Given the description of an element on the screen output the (x, y) to click on. 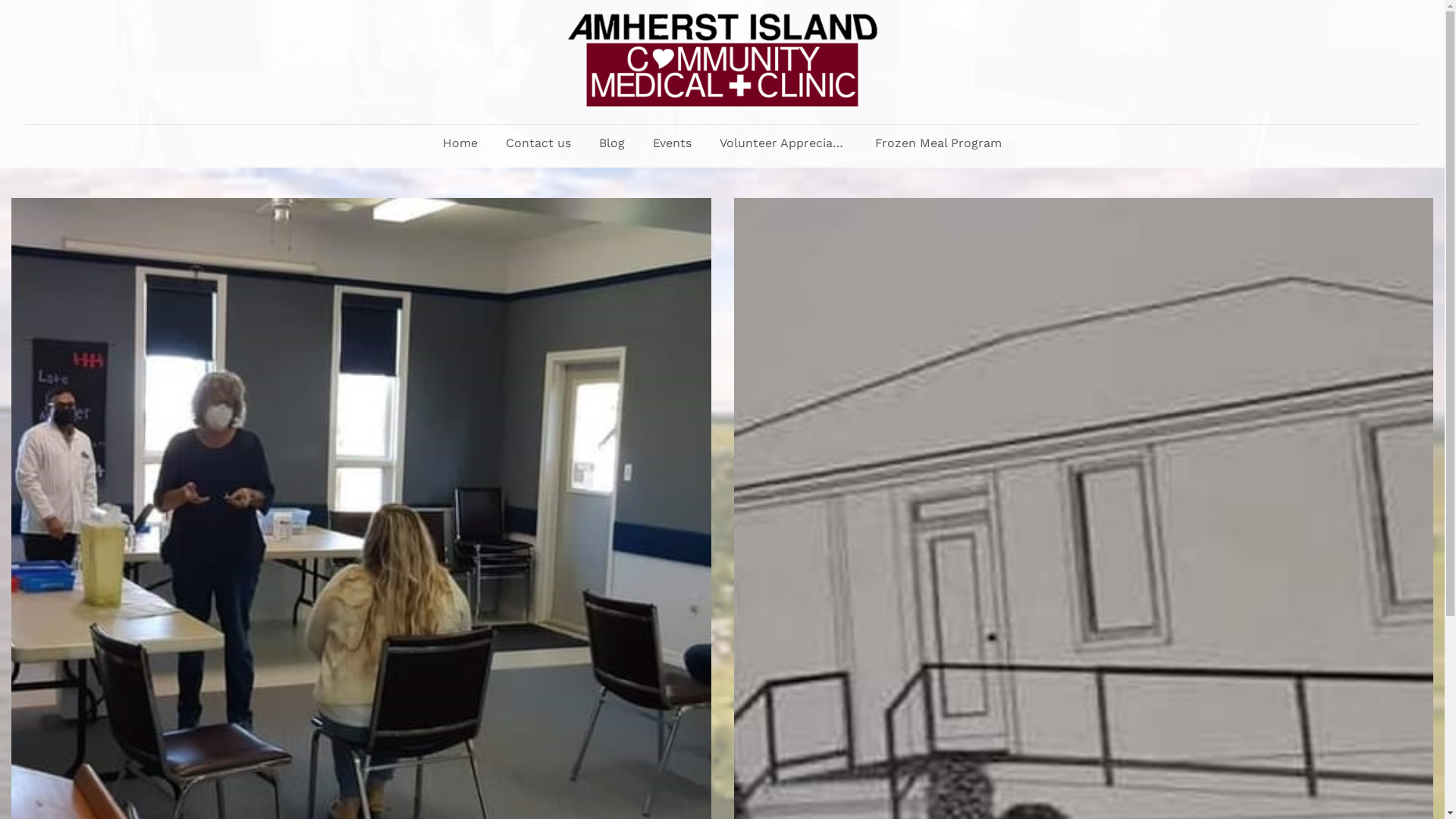
Contact us Element type: text (538, 143)
Events Element type: text (671, 143)
Home Element type: text (459, 143)
Blog Element type: text (611, 143)
Volunteer Appreciation Element type: text (783, 143)
Frozen Meal Program Element type: text (937, 143)
